Given the description of an element on the screen output the (x, y) to click on. 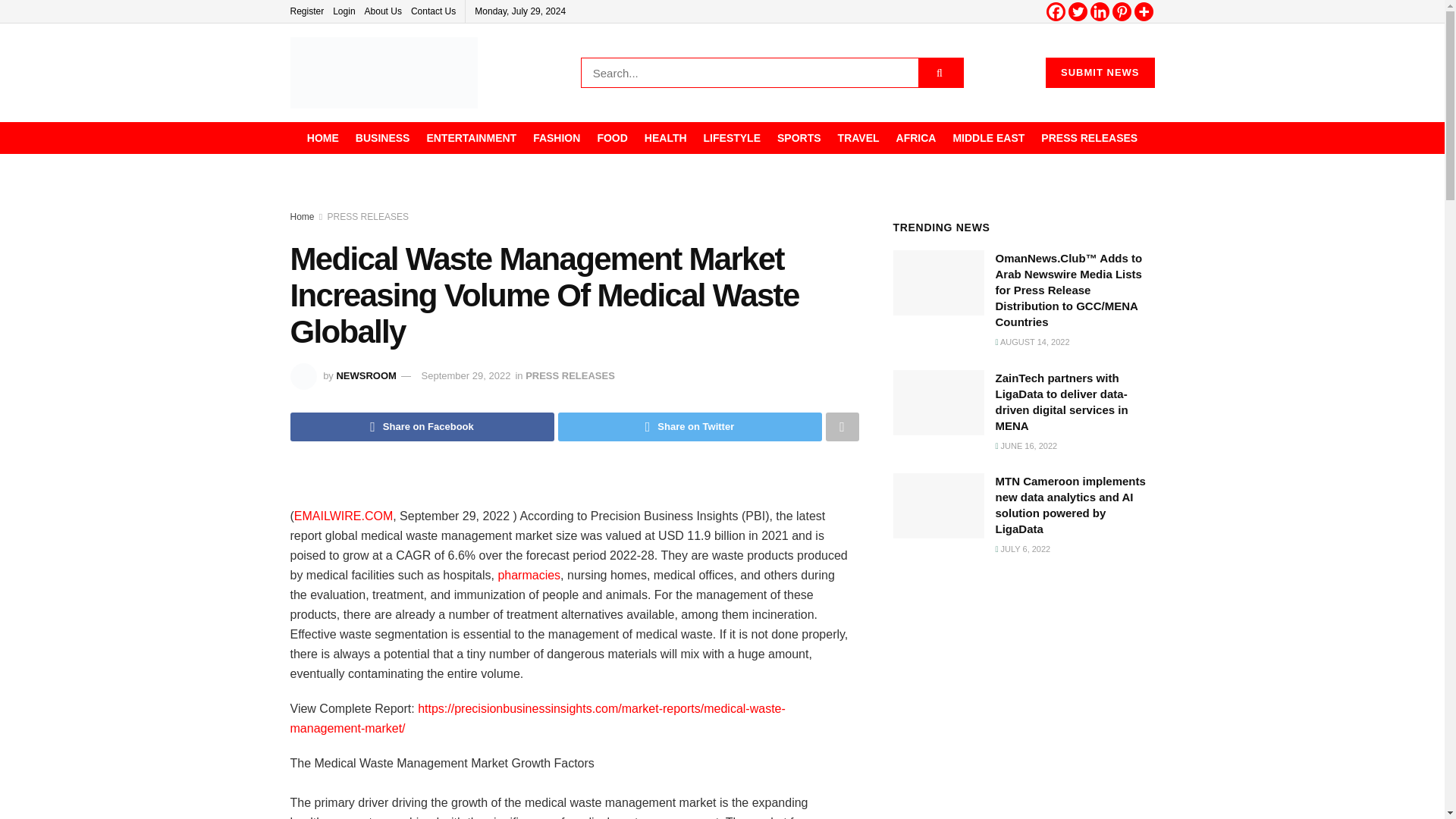
AFRICA (916, 137)
Contact Us (432, 11)
FOOD (611, 137)
Login (344, 11)
BUSINESS (382, 137)
ENTERTAINMENT (471, 137)
HOME (323, 137)
LIFESTYLE (731, 137)
Twitter (1076, 11)
Facebook (1055, 11)
Pinterest (1121, 11)
TRAVEL (858, 137)
About Us (383, 11)
PRESS RELEASES (1089, 137)
SUBMIT NEWS (1099, 72)
